Given the description of an element on the screen output the (x, y) to click on. 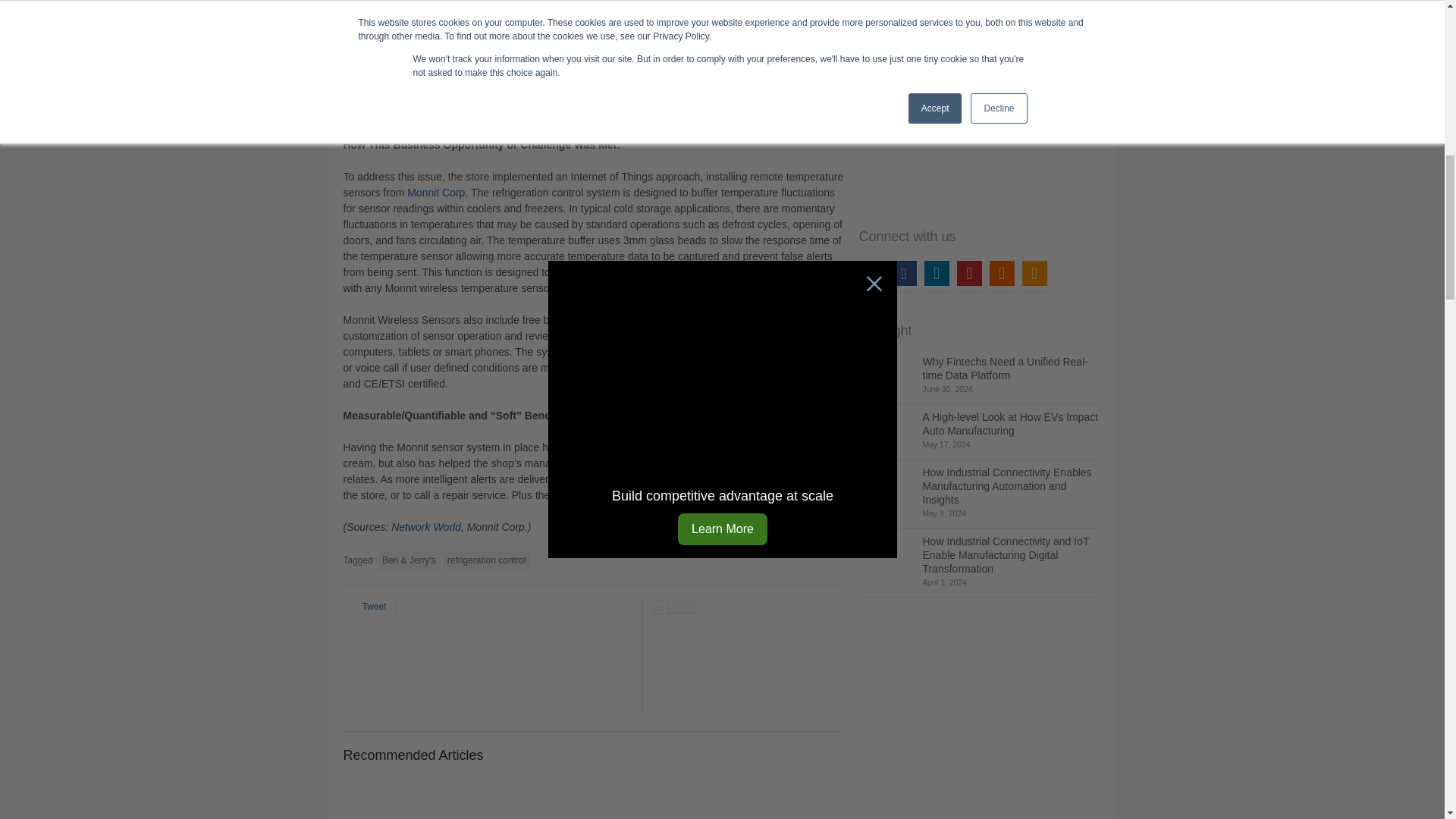
Retailers Expand Deployment of Cashierless Shopping (399, 799)
Monnit Corp (435, 192)
